Given the description of an element on the screen output the (x, y) to click on. 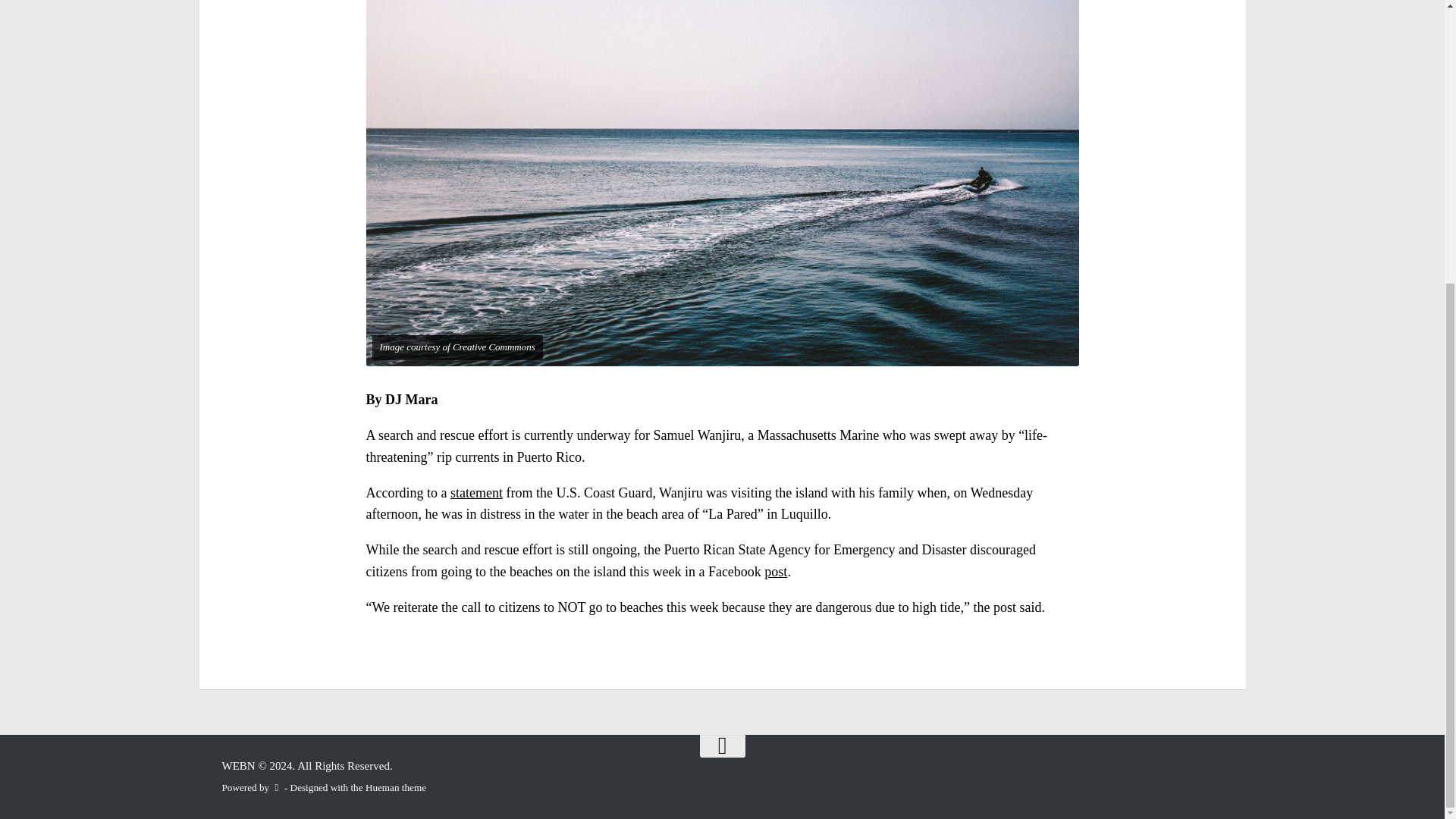
Hueman theme (395, 787)
Powered by WordPress (275, 787)
